Given the description of an element on the screen output the (x, y) to click on. 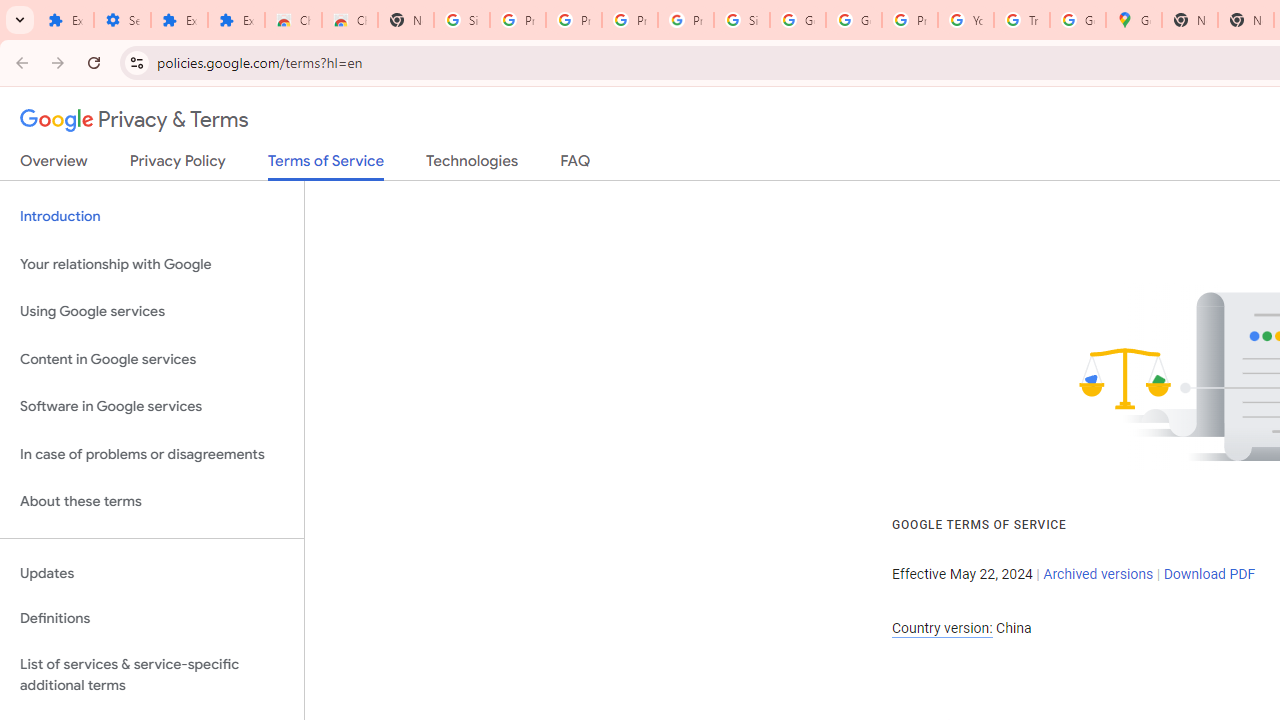
Download PDF (1209, 574)
New Tab (1190, 20)
Content in Google services (152, 358)
Country version: (942, 628)
